Given the description of an element on the screen output the (x, y) to click on. 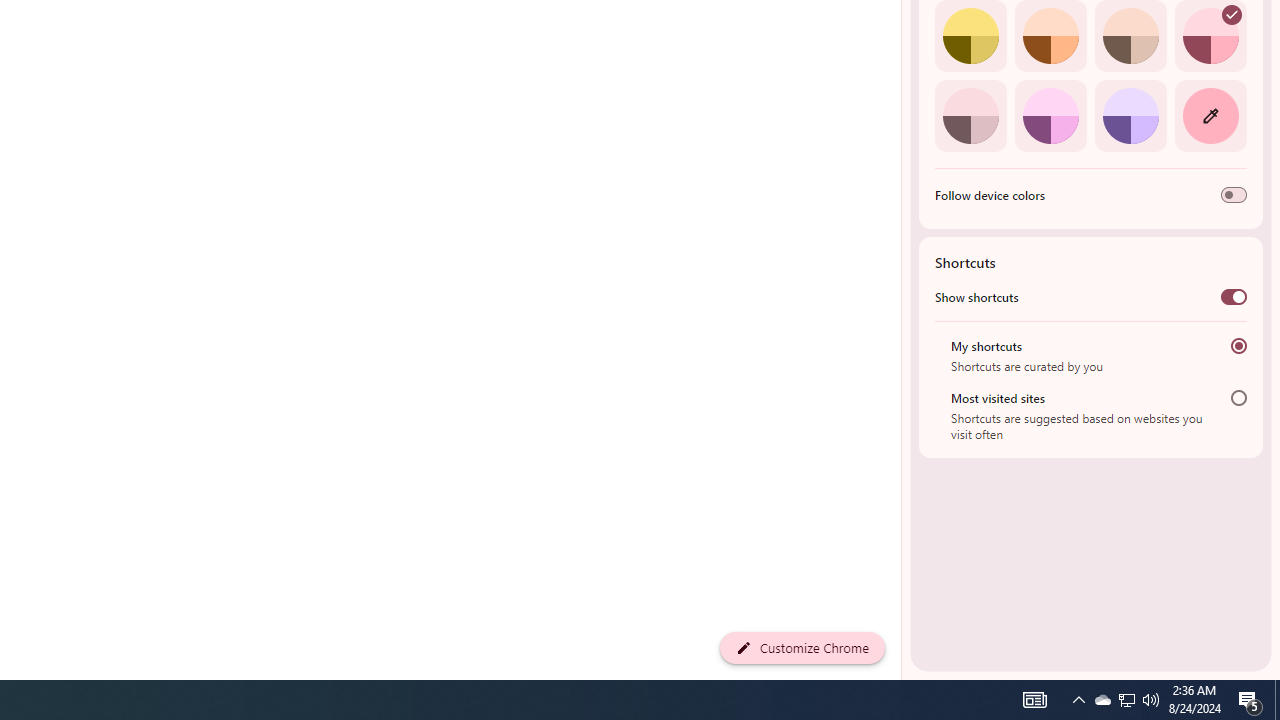
Violet (1130, 115)
